Given the description of an element on the screen output the (x, y) to click on. 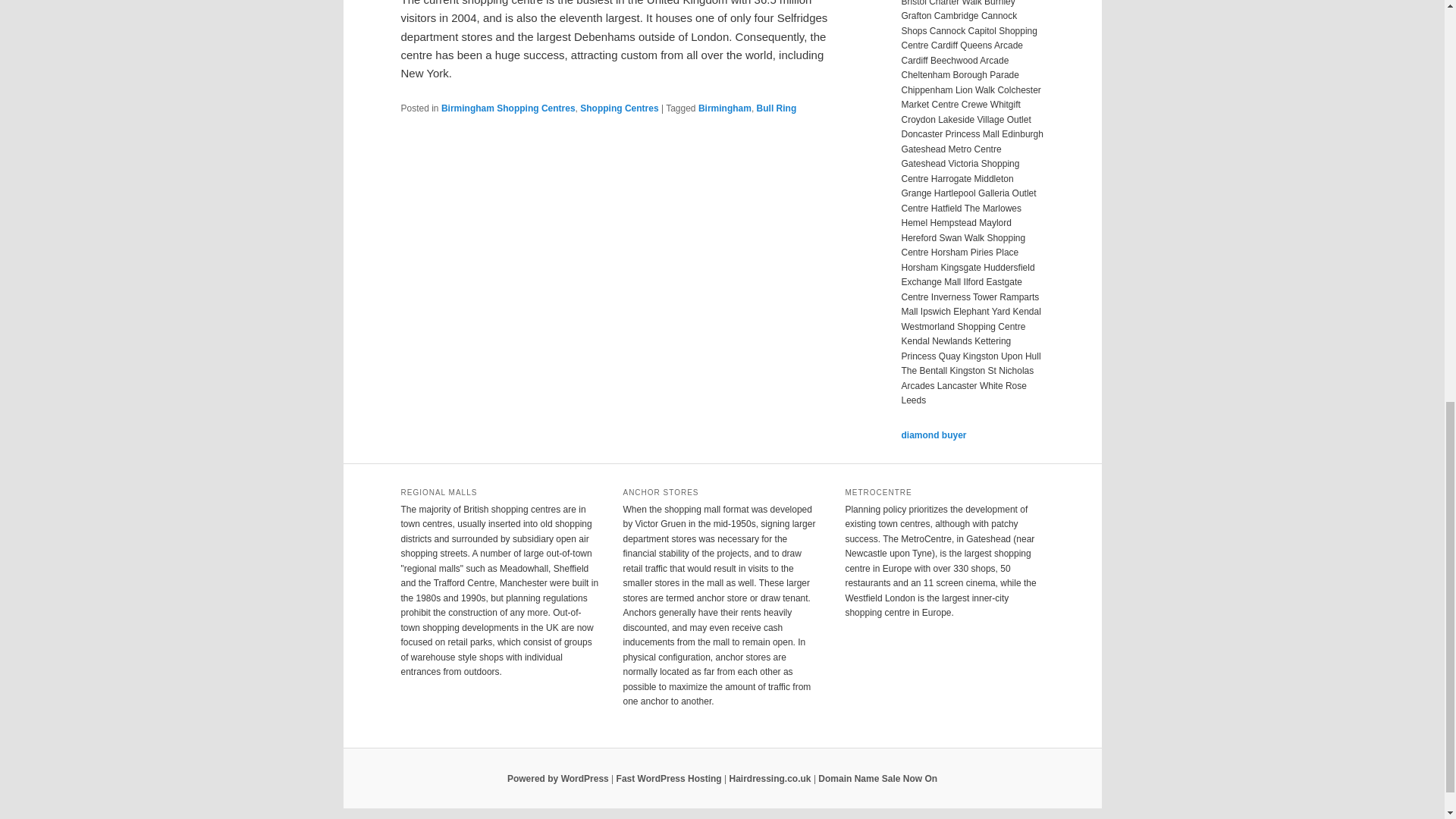
Birmingham (724, 108)
Shopping Centres (618, 108)
Domain Name Sale Now On (877, 778)
Powered by WordPress (557, 778)
Semantic Personal Publishing Platform (557, 778)
diamond buyer (933, 434)
Birmingham Shopping Centres (508, 108)
Fast WordPress Hosting (668, 778)
Hairdressing.co.uk (769, 778)
Bull Ring (776, 108)
